Given the description of an element on the screen output the (x, y) to click on. 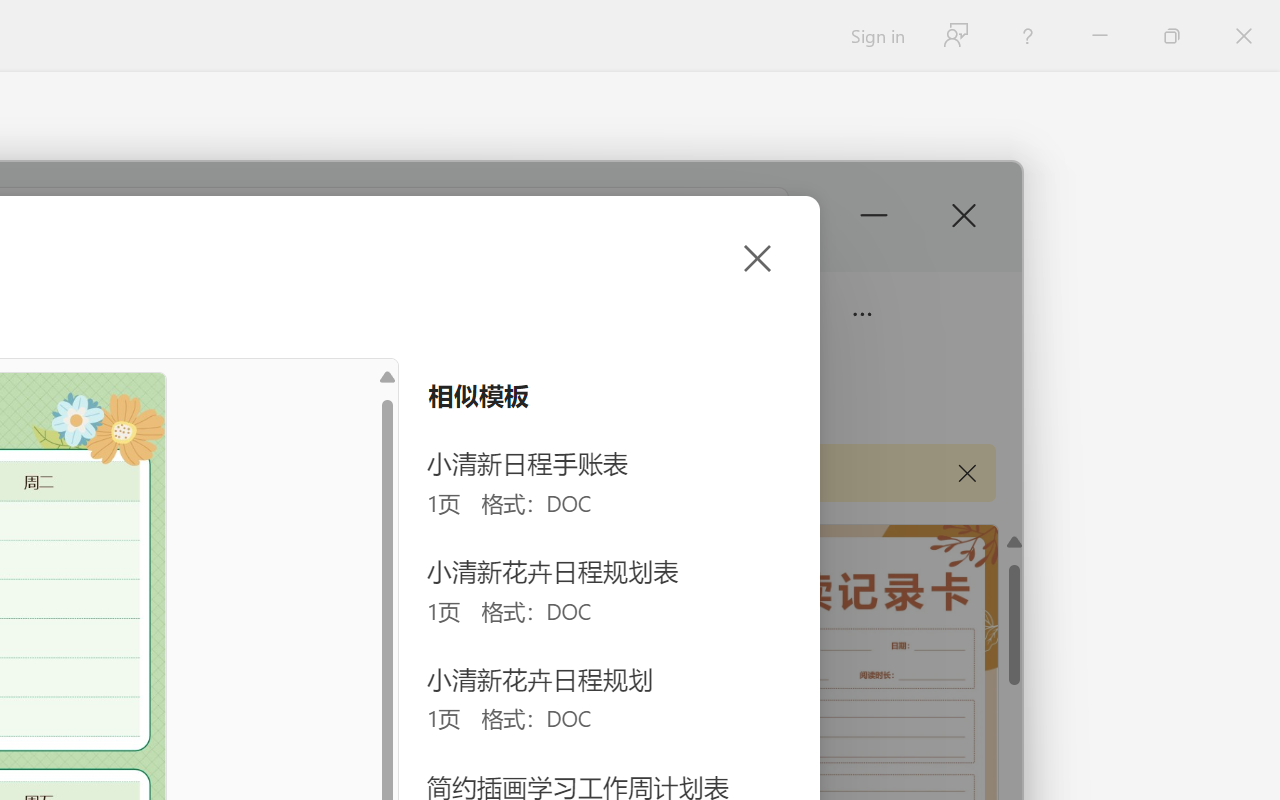
Sign in (875, 35)
